Given the description of an element on the screen output the (x, y) to click on. 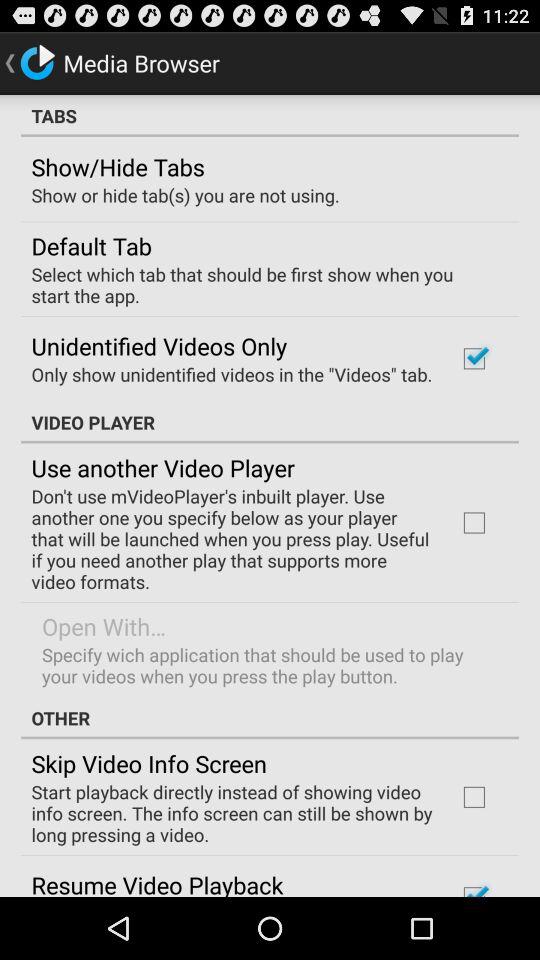
press the icon above specify wich application app (104, 626)
